Given the description of an element on the screen output the (x, y) to click on. 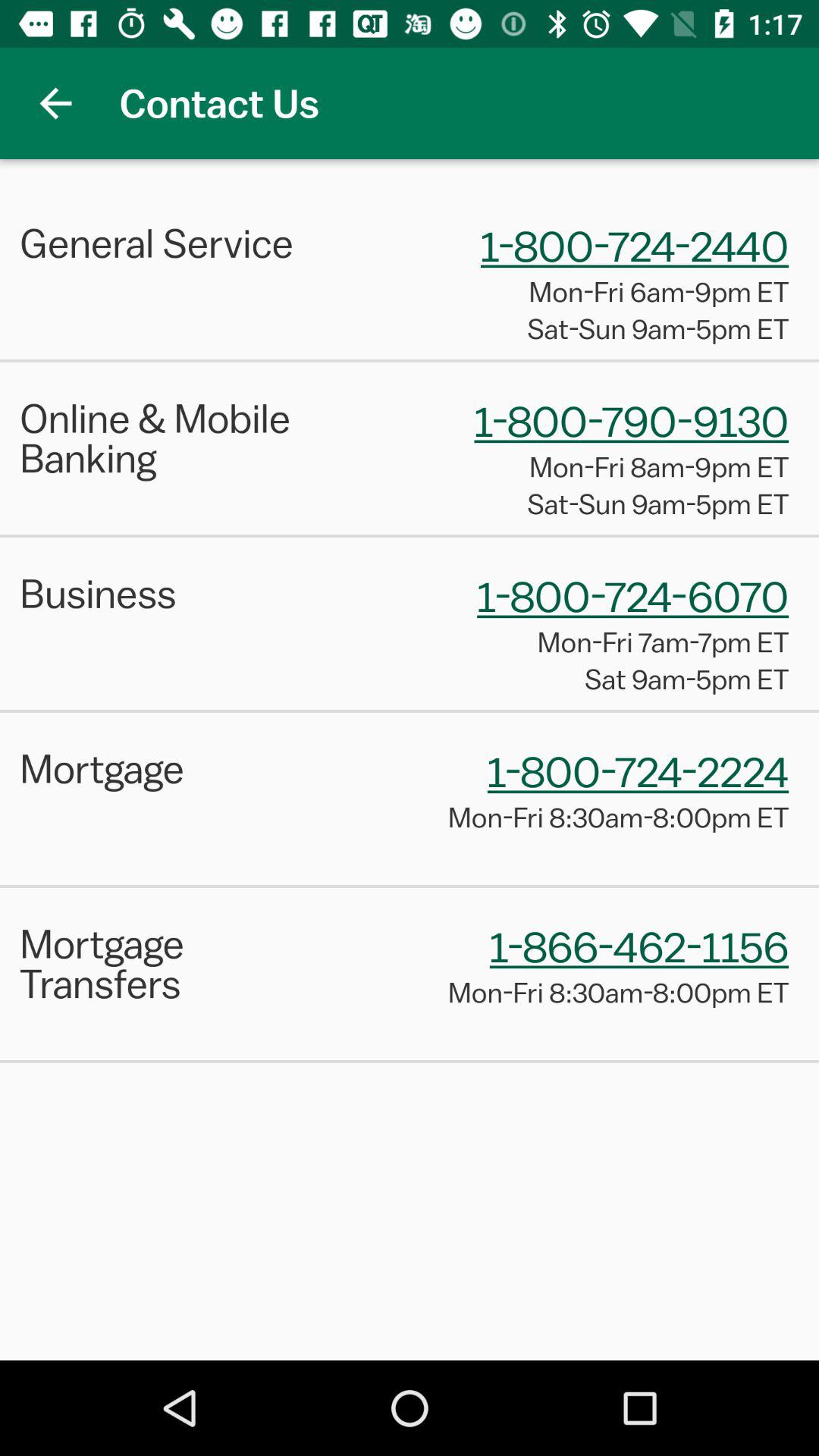
turn off the item above the business icon (409, 535)
